Given the description of an element on the screen output the (x, y) to click on. 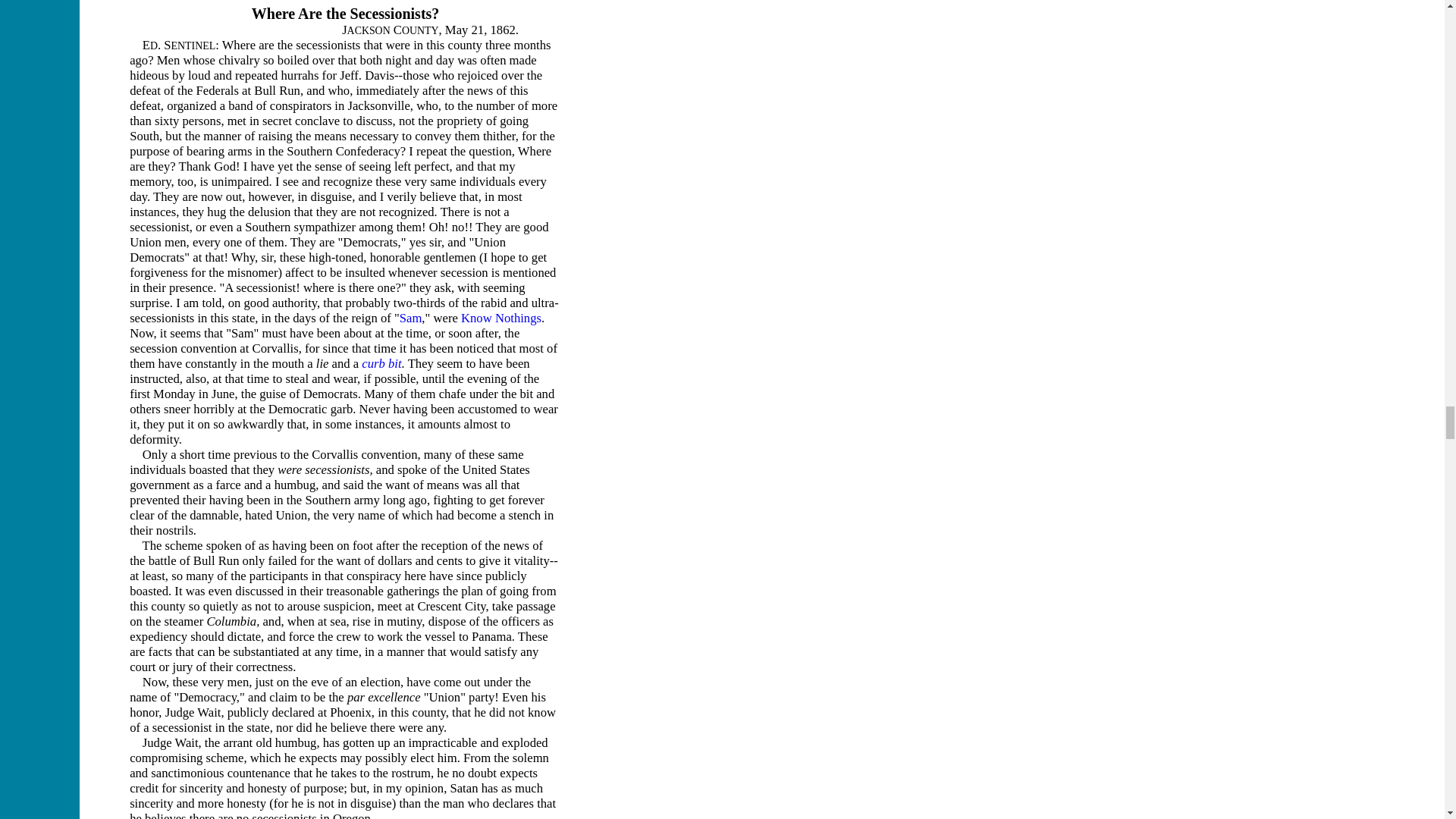
Know Nothings (501, 318)
curb bit (381, 363)
Sam (410, 318)
